Given the description of an element on the screen output the (x, y) to click on. 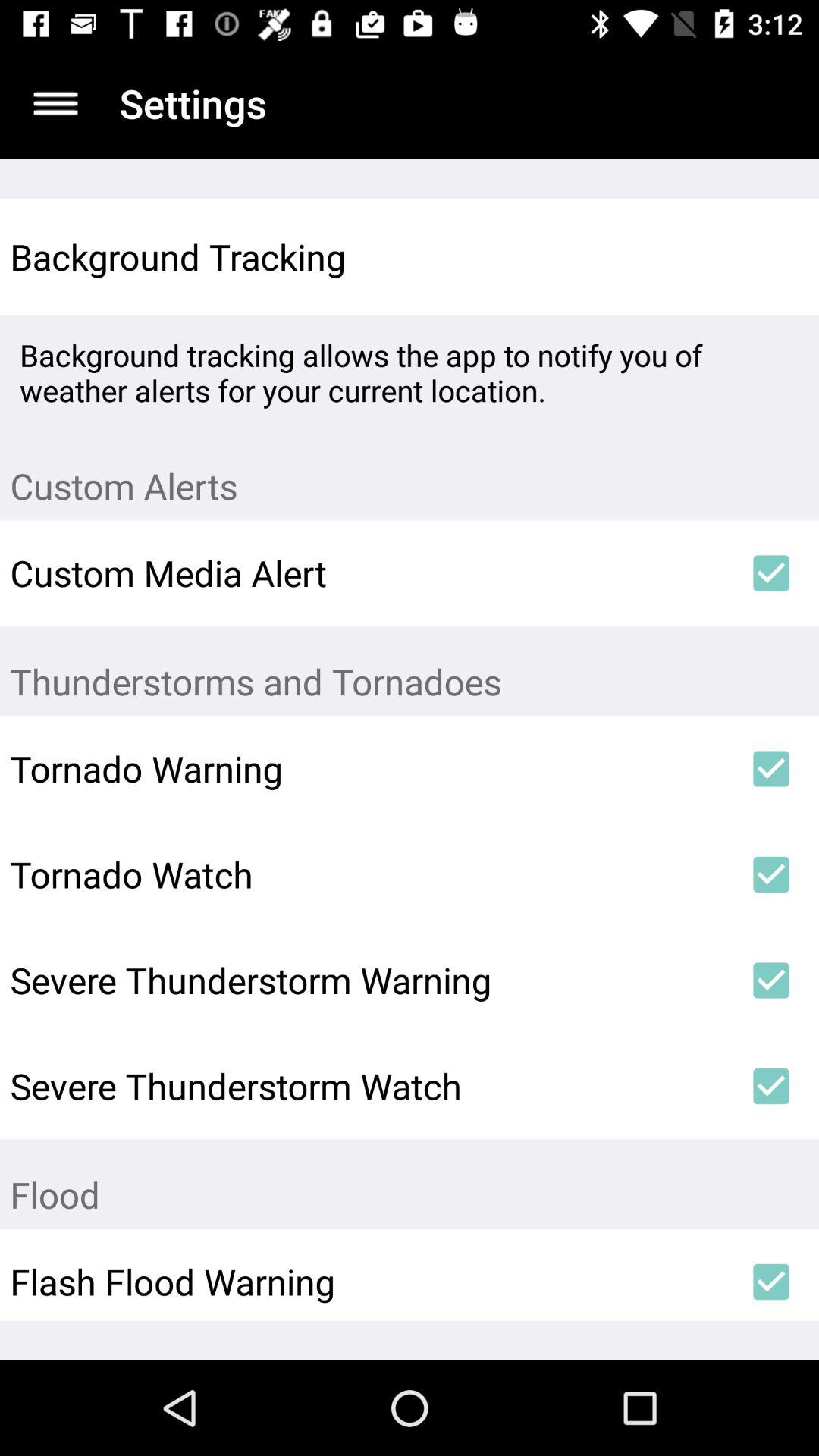
options (55, 103)
